Given the description of an element on the screen output the (x, y) to click on. 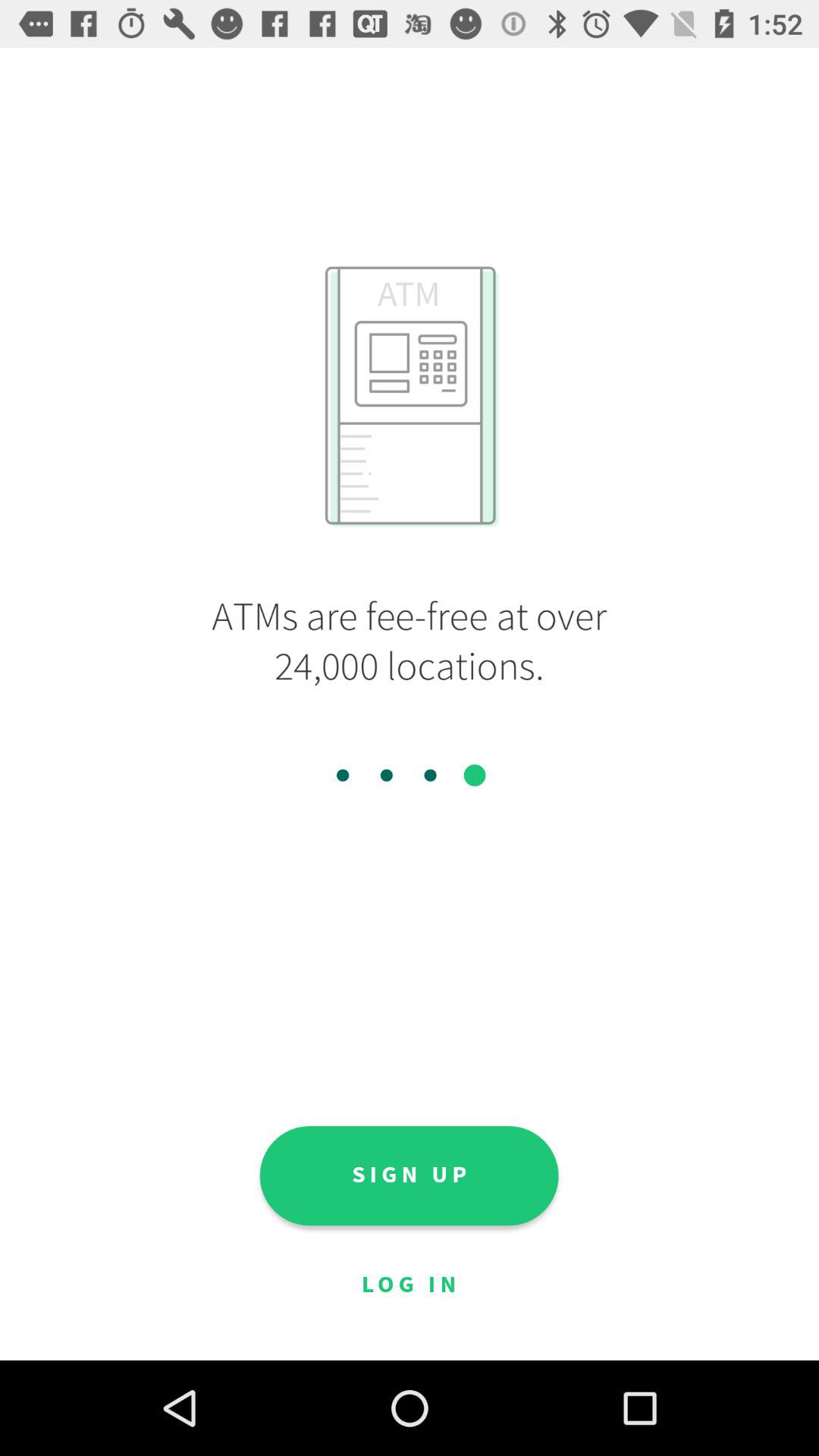
swipe to log in (408, 1285)
